Given the description of an element on the screen output the (x, y) to click on. 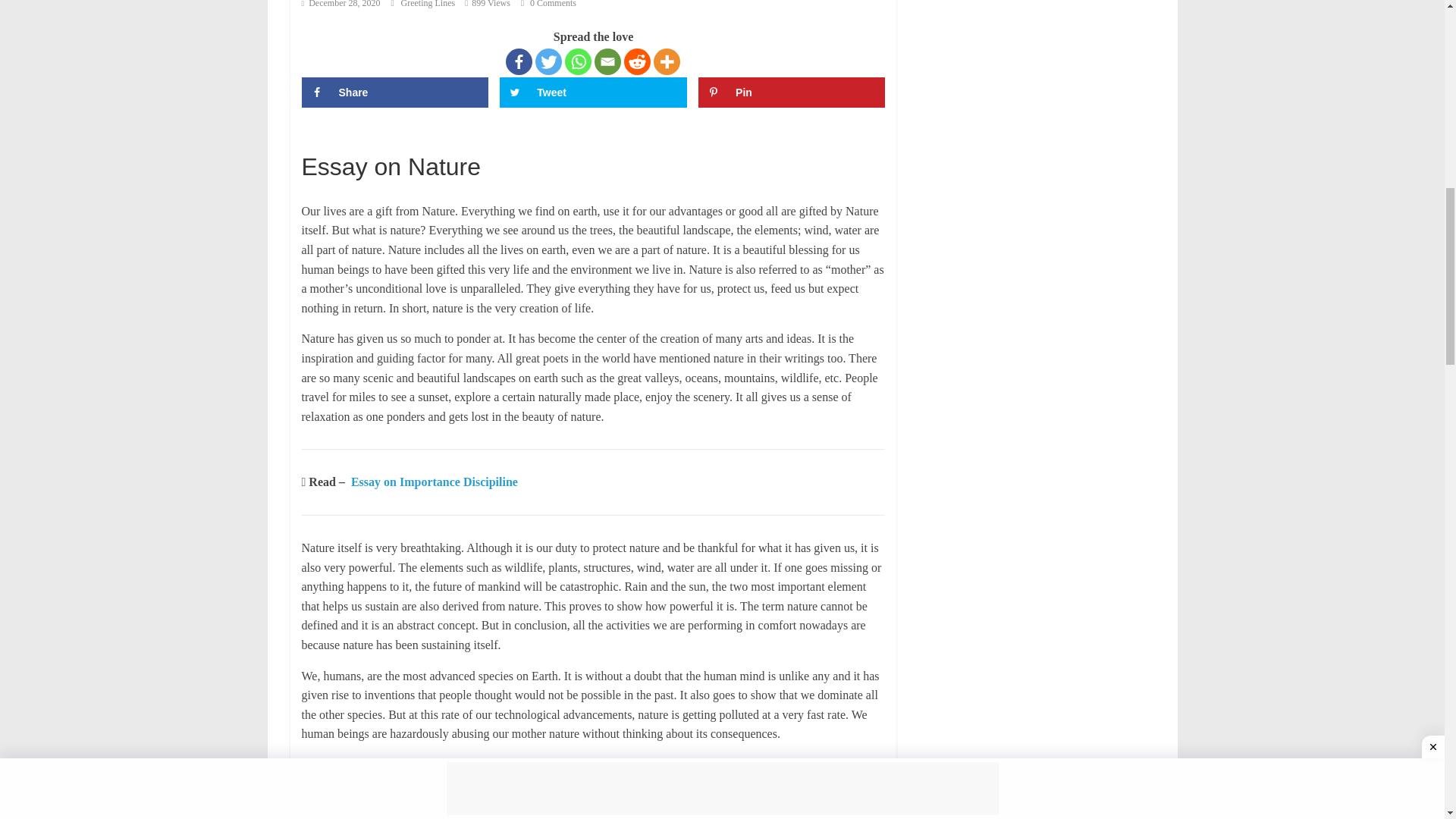
Twitter (679, 261)
Greeting Lines (237, 226)
Greeting Lines (237, 226)
December 28, 2020December 29, 2020 (100, 226)
Facebook (653, 261)
More (788, 261)
0 Comments (360, 226)
12:18 pm (100, 226)
Email (732, 261)
Essay (19, 162)
Whatsapp (706, 261)
Reddit (759, 261)
